Given the description of an element on the screen output the (x, y) to click on. 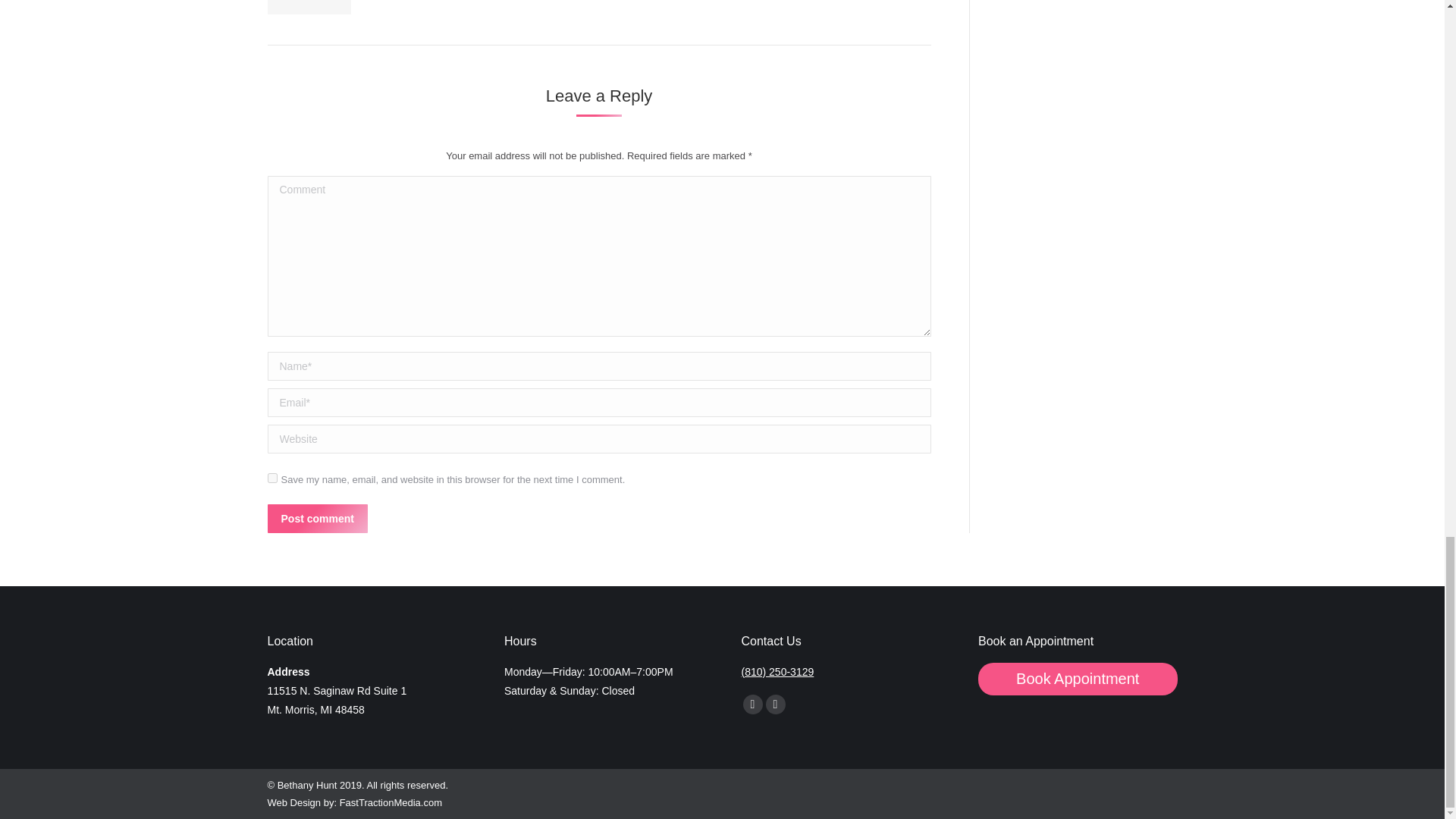
Instagram (775, 704)
yes (271, 478)
Facebook (752, 704)
